Given the description of an element on the screen output the (x, y) to click on. 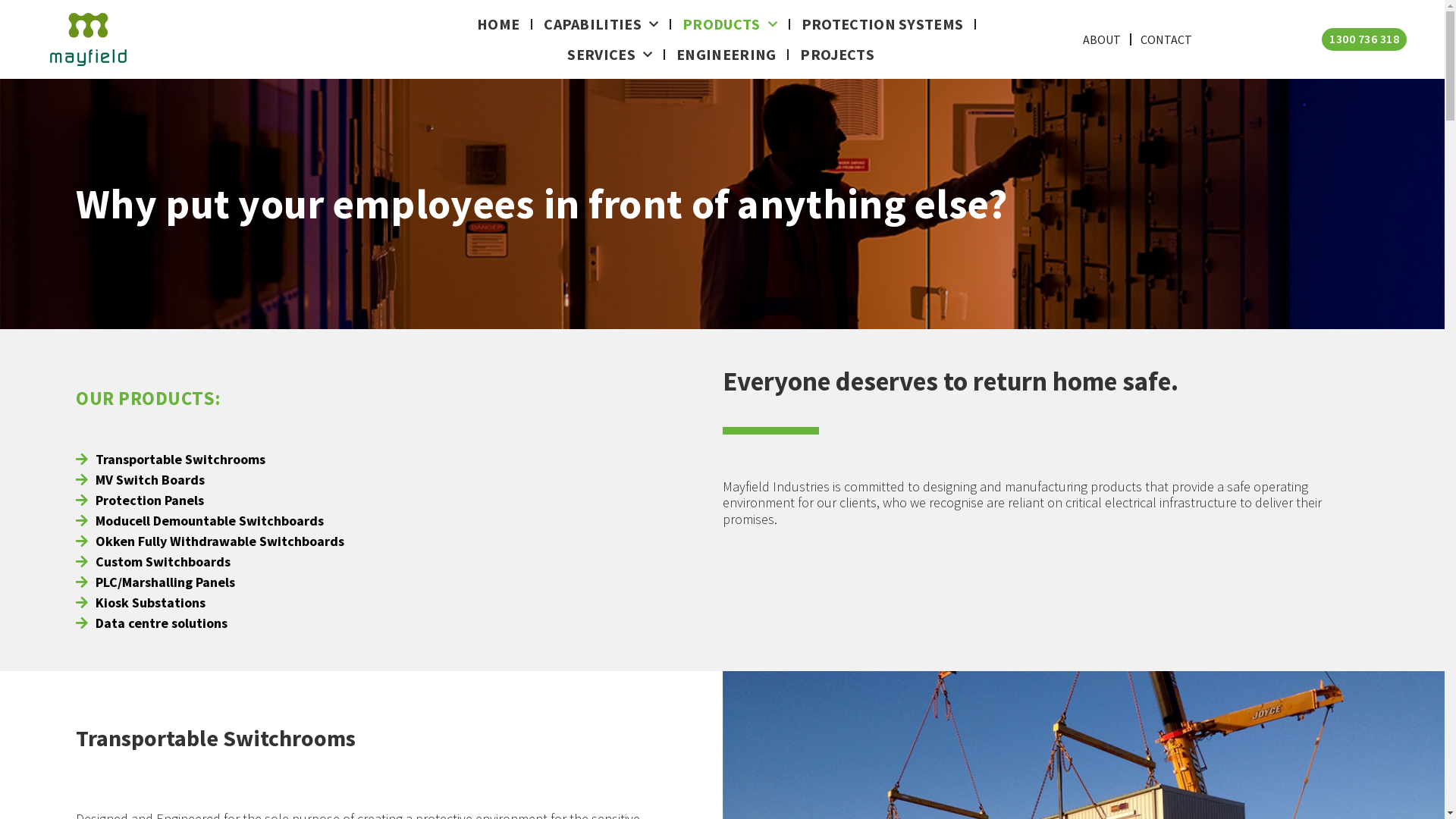
MV Switch Boards Element type: text (139, 478)
Moducell Demountable Switchboards Element type: text (209, 519)
CONTACT Element type: text (1166, 38)
Kiosk Substations Element type: text (209, 601)
PROJECTS Element type: text (836, 54)
Okken Fully Withdrawable Switchboards Element type: text (209, 540)
HOME Element type: text (497, 24)
Custom Switchboards Element type: text (209, 560)
ENGINEERING Element type: text (726, 54)
PROTECTION SYSTEMS Element type: text (882, 24)
Data centre solutions Element type: text (209, 622)
SERVICES Element type: text (609, 54)
CAPABILITIES Element type: text (600, 24)
Transportable Switchrooms Element type: text (170, 458)
PLC/Marshalling Panels Element type: text (209, 581)
Protection Panels Element type: text (139, 499)
PRODUCTS Element type: text (729, 24)
ABOUT Element type: text (1101, 38)
1300 736 318 Element type: text (1363, 39)
